Given the description of an element on the screen output the (x, y) to click on. 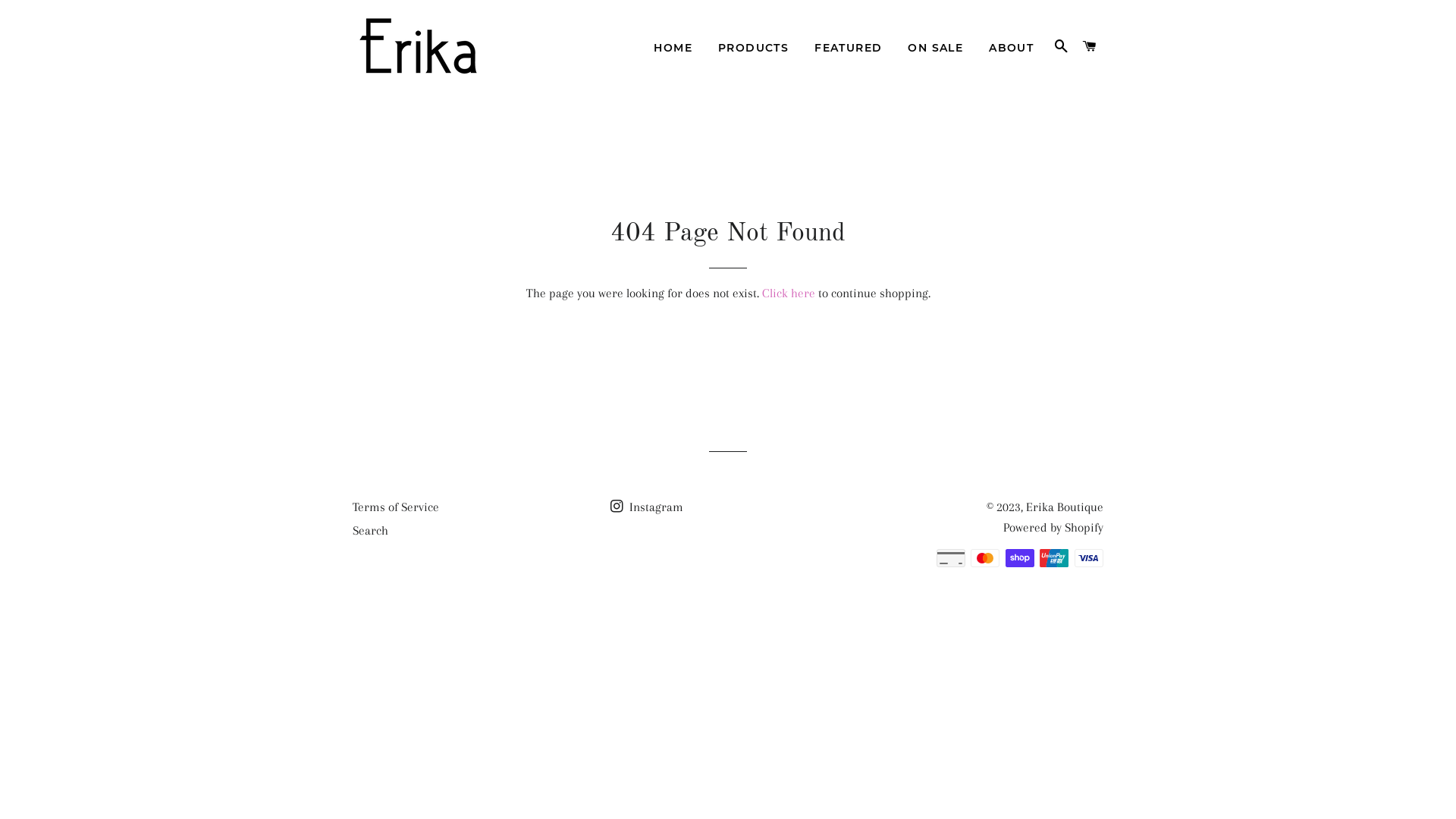
Search Element type: text (370, 530)
Erika Boutique Element type: text (1064, 506)
ON SALE Element type: text (935, 48)
ABOUT Element type: text (1010, 48)
HOME Element type: text (672, 48)
Powered by Shopify Element type: text (1053, 527)
Terms of Service Element type: text (395, 506)
FEATURED Element type: text (848, 48)
PRODUCTS Element type: text (753, 48)
Instagram Element type: text (646, 506)
CART Element type: text (1090, 47)
Click here Element type: text (787, 292)
SEARCH Element type: text (1060, 47)
